Given the description of an element on the screen output the (x, y) to click on. 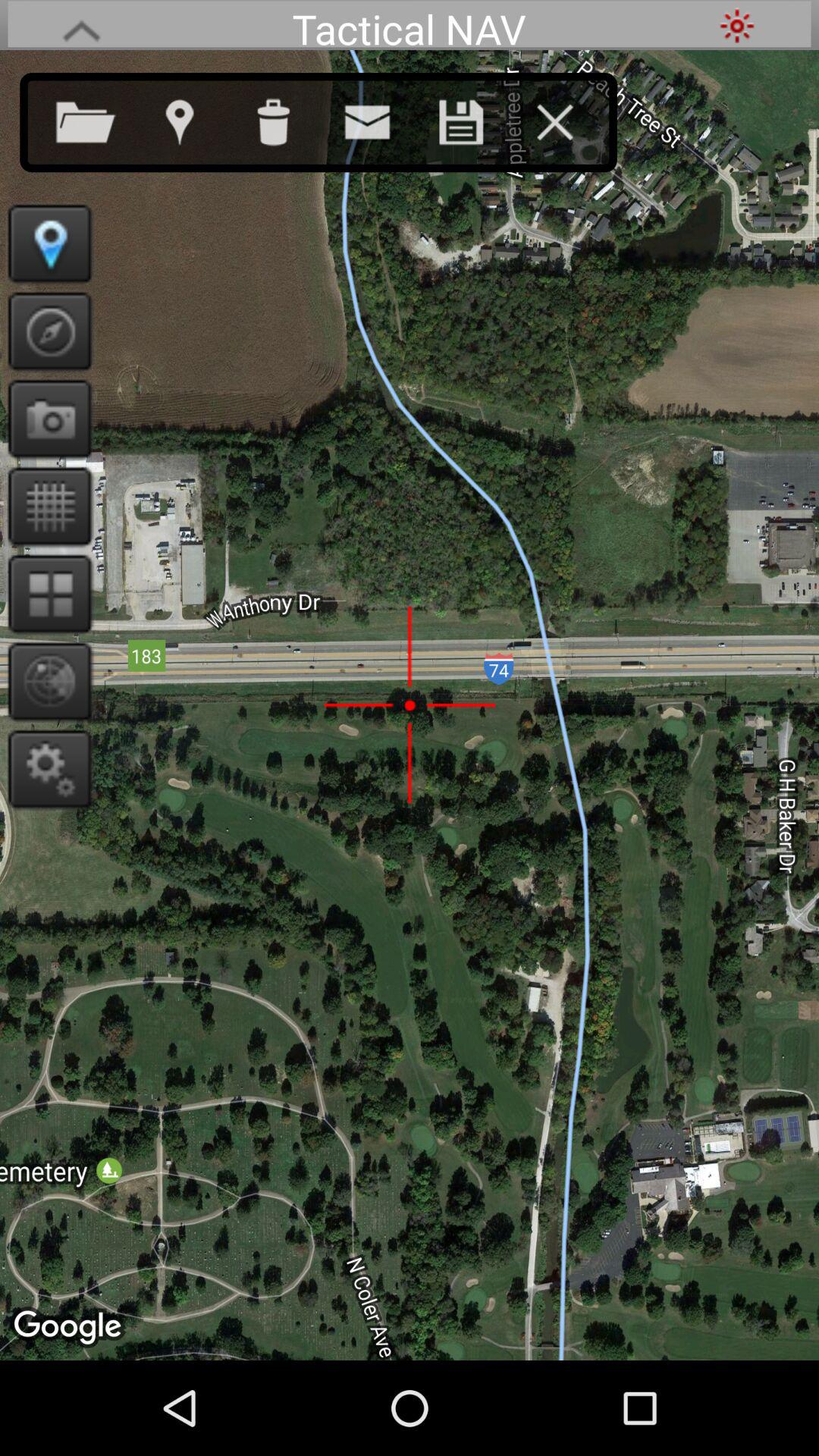
gps pin location (45, 243)
